Given the description of an element on the screen output the (x, y) to click on. 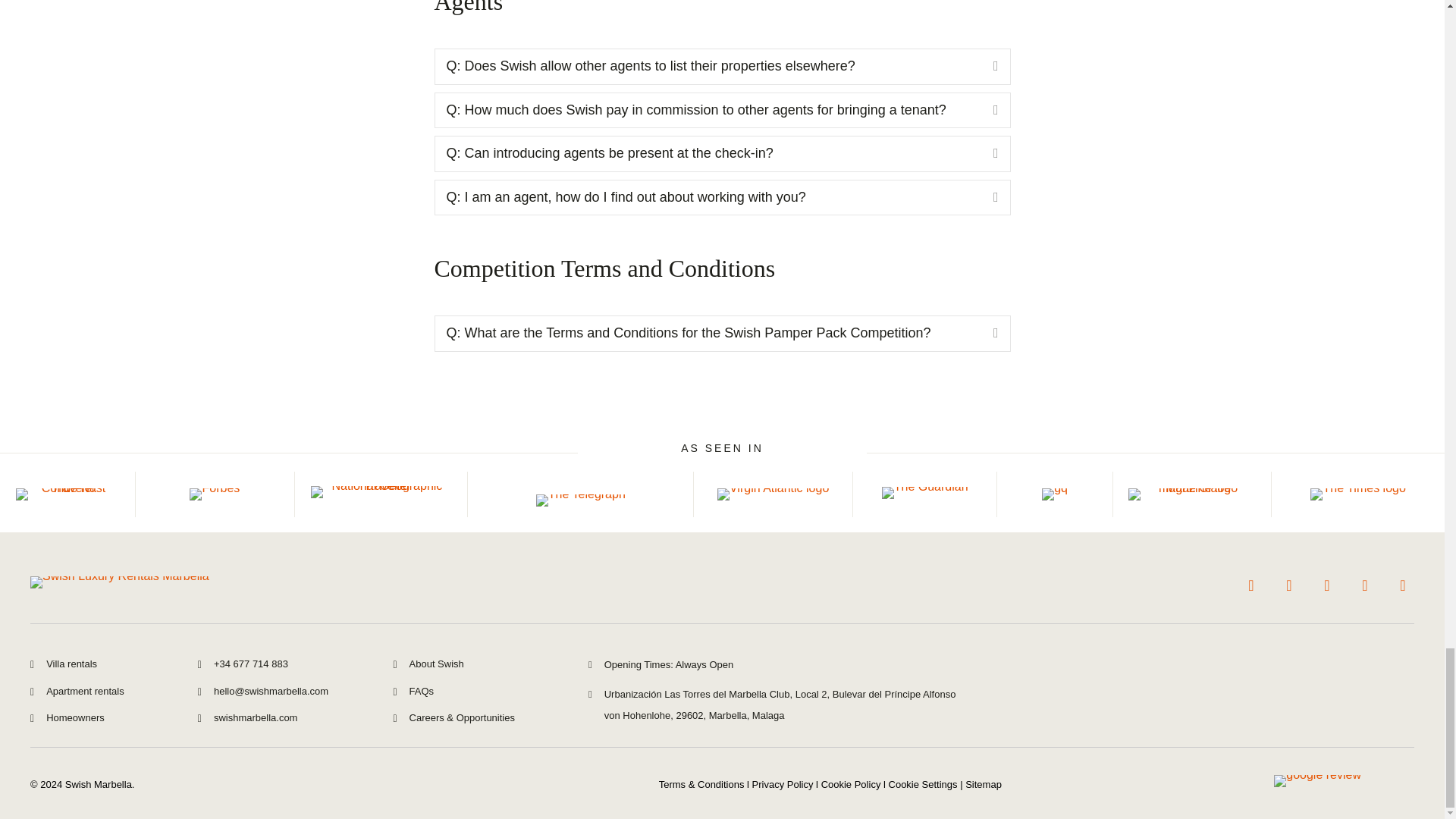
National Geographic Traveller (380, 491)
Marie Claire magazine logo (1192, 494)
Swish Luxury Rentals Marbella (119, 582)
The Guardian (925, 492)
The Telegraph (580, 500)
YouTube (1251, 585)
Instagram (1289, 585)
Forbes (214, 494)
Virgin Atlantic (772, 494)
gq (1054, 494)
